Given the description of an element on the screen output the (x, y) to click on. 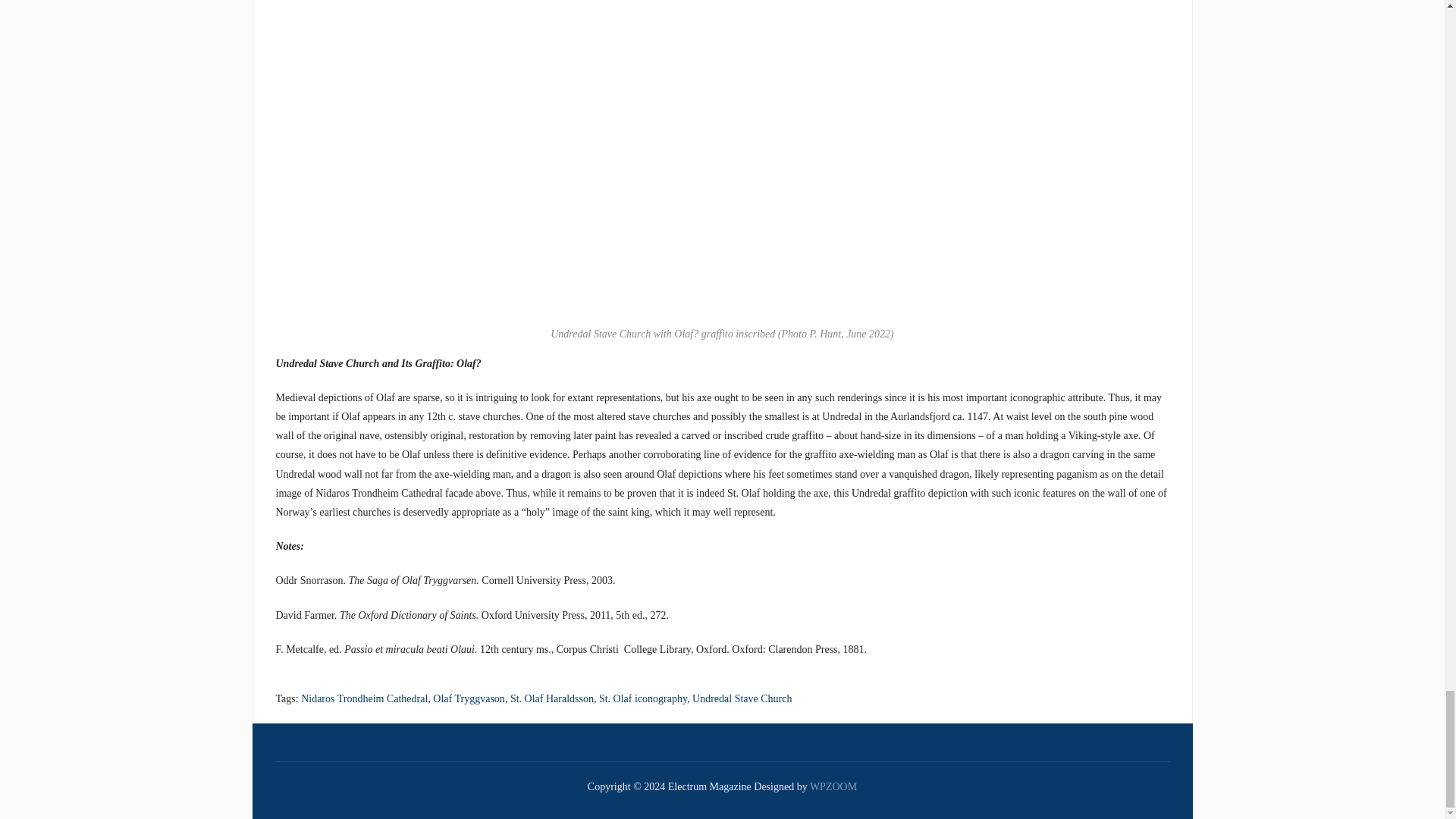
WPZOOM WordPress Themes (833, 786)
